Given the description of an element on the screen output the (x, y) to click on. 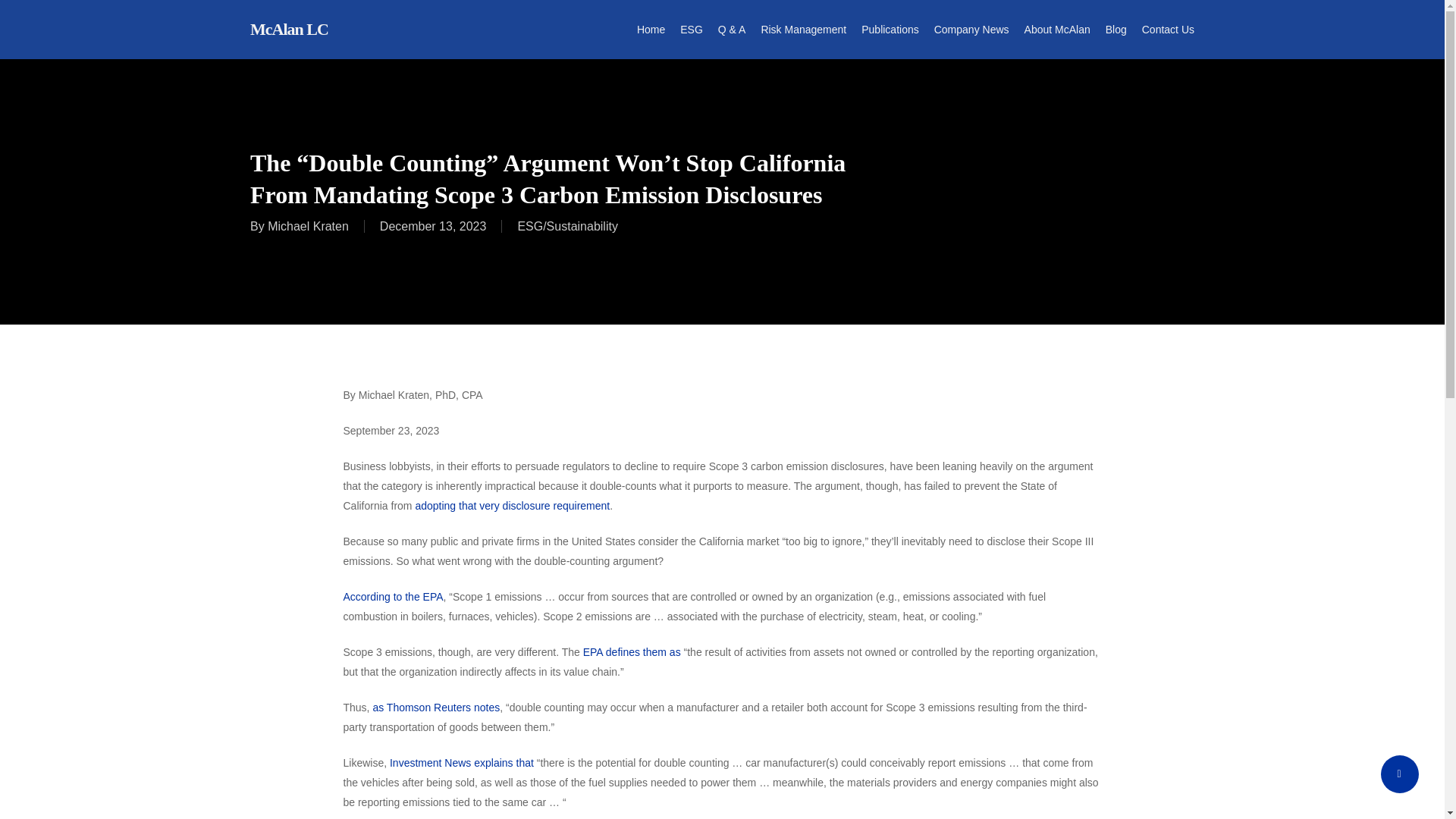
According to the EPA (392, 596)
Company News (971, 29)
Contact Us (1167, 29)
Blog (1115, 29)
adopting that very disclosure requirement (512, 505)
Home (651, 29)
About McAlan (1057, 29)
Risk Management (802, 29)
EPA defines them as (632, 652)
Michael Kraten (308, 226)
